Given the description of an element on the screen output the (x, y) to click on. 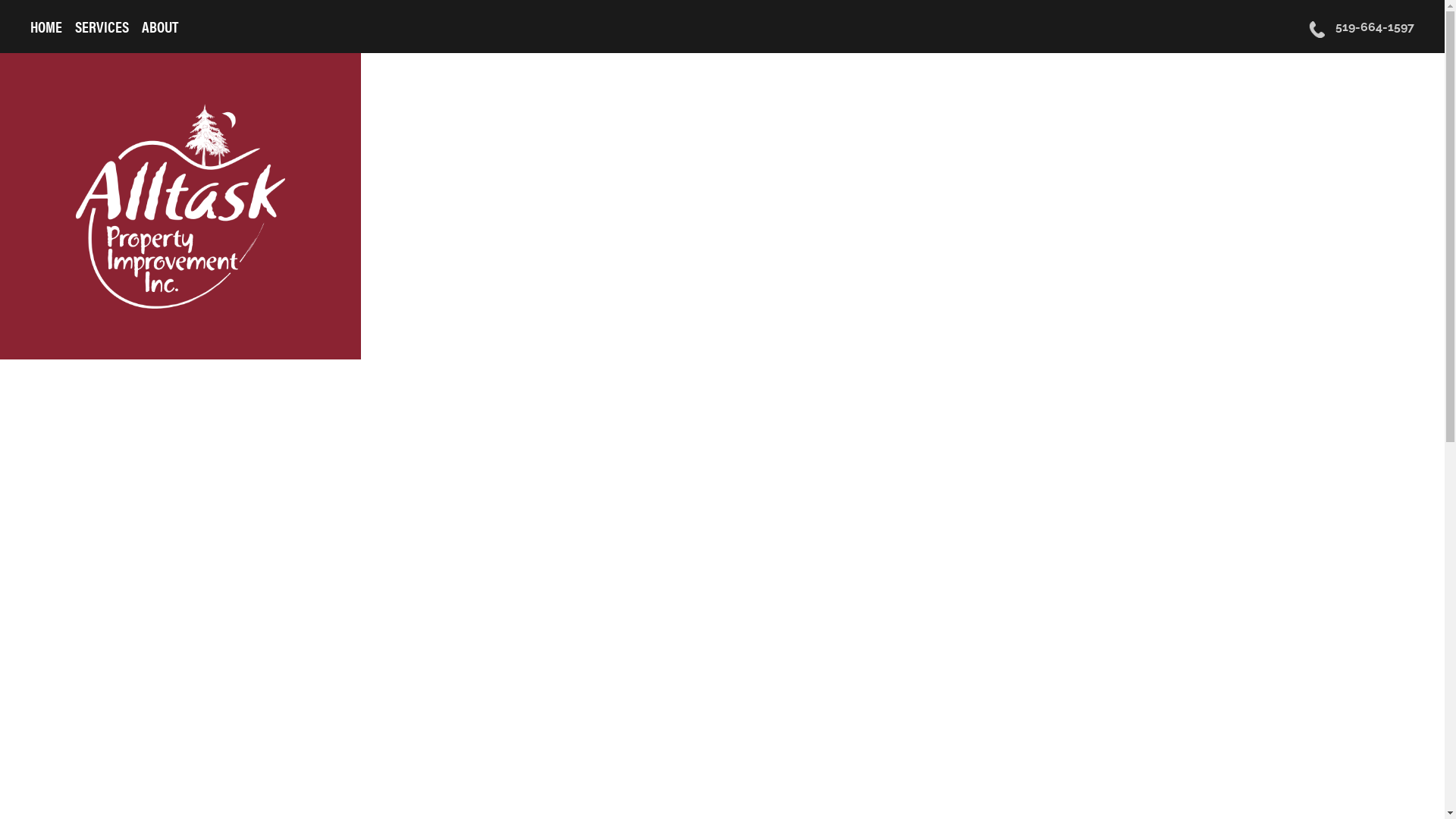
ABOUT Element type: text (159, 26)
519-664-1597 Element type: text (1361, 26)
HOME Element type: text (46, 26)
SERVICES Element type: text (101, 26)
